Given the description of an element on the screen output the (x, y) to click on. 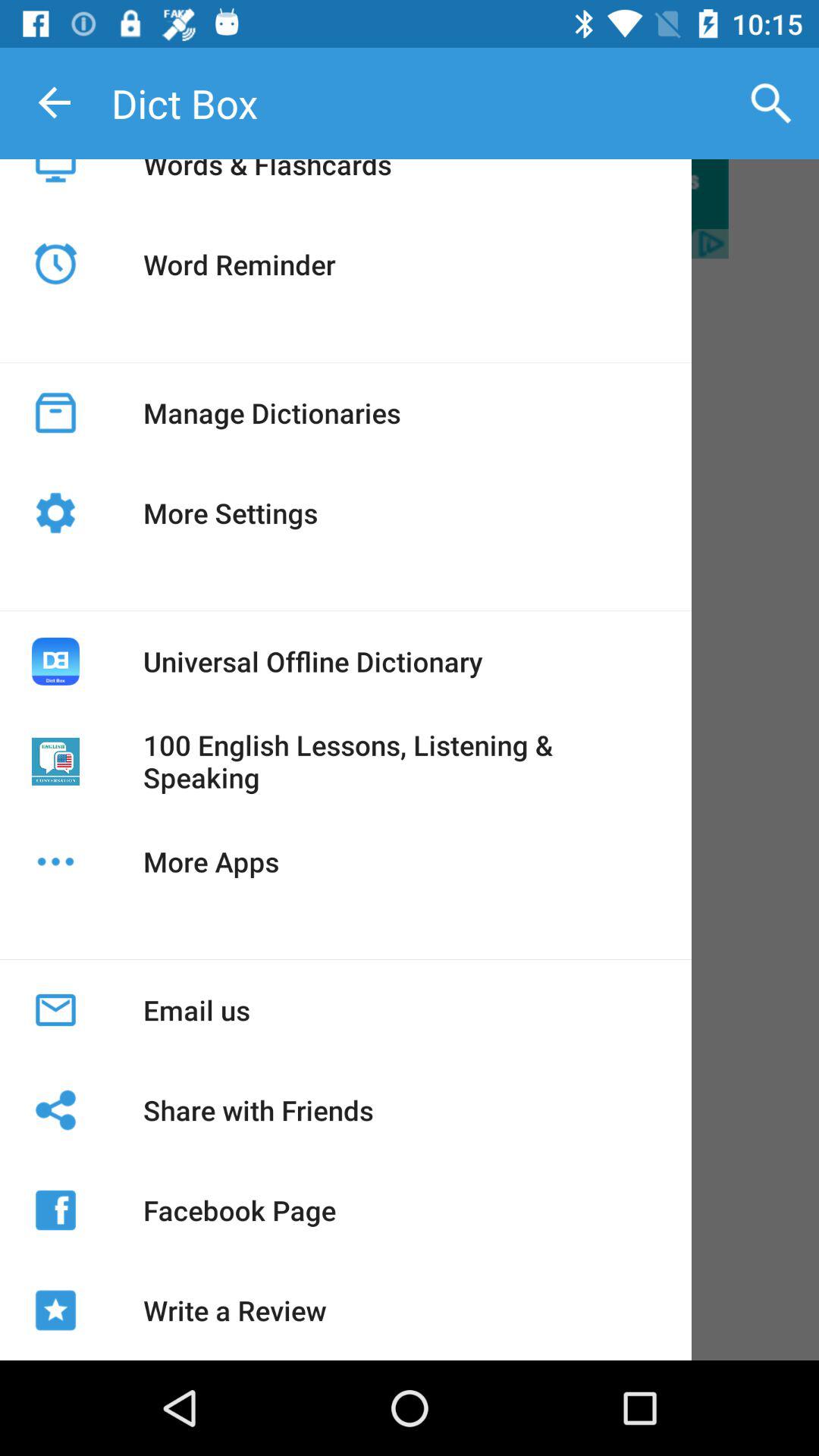
turn on app below words & flashcards item (239, 264)
